Given the description of an element on the screen output the (x, y) to click on. 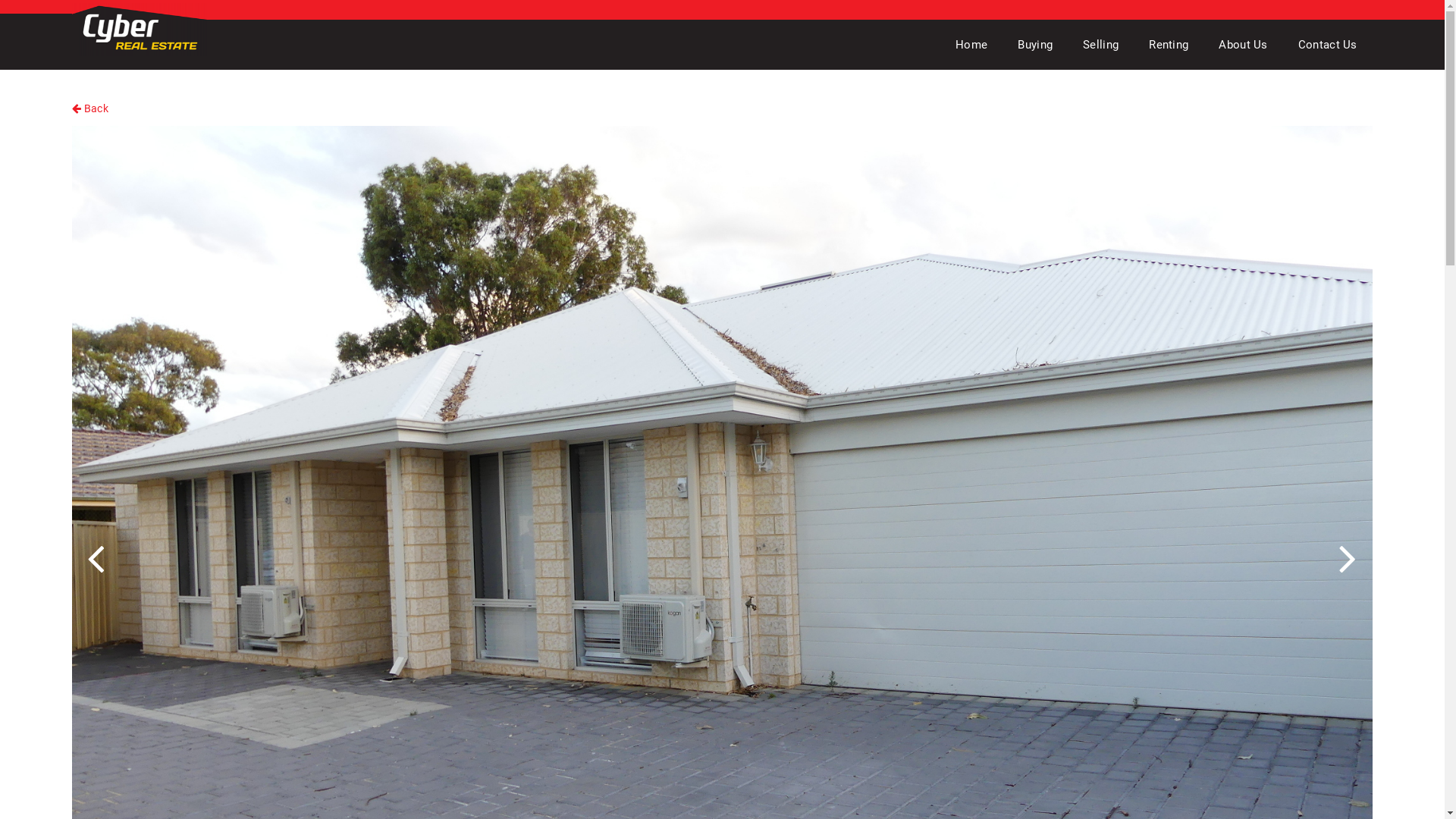
Buying Element type: text (1034, 44)
Home Element type: text (971, 44)
Renting Element type: text (1168, 44)
Back Element type: text (90, 108)
Selling Element type: text (1100, 44)
About Us Element type: text (1242, 44)
Cyber Real Estate -  Element type: hover (139, 29)
Contact Us Element type: text (1327, 44)
